Given the description of an element on the screen output the (x, y) to click on. 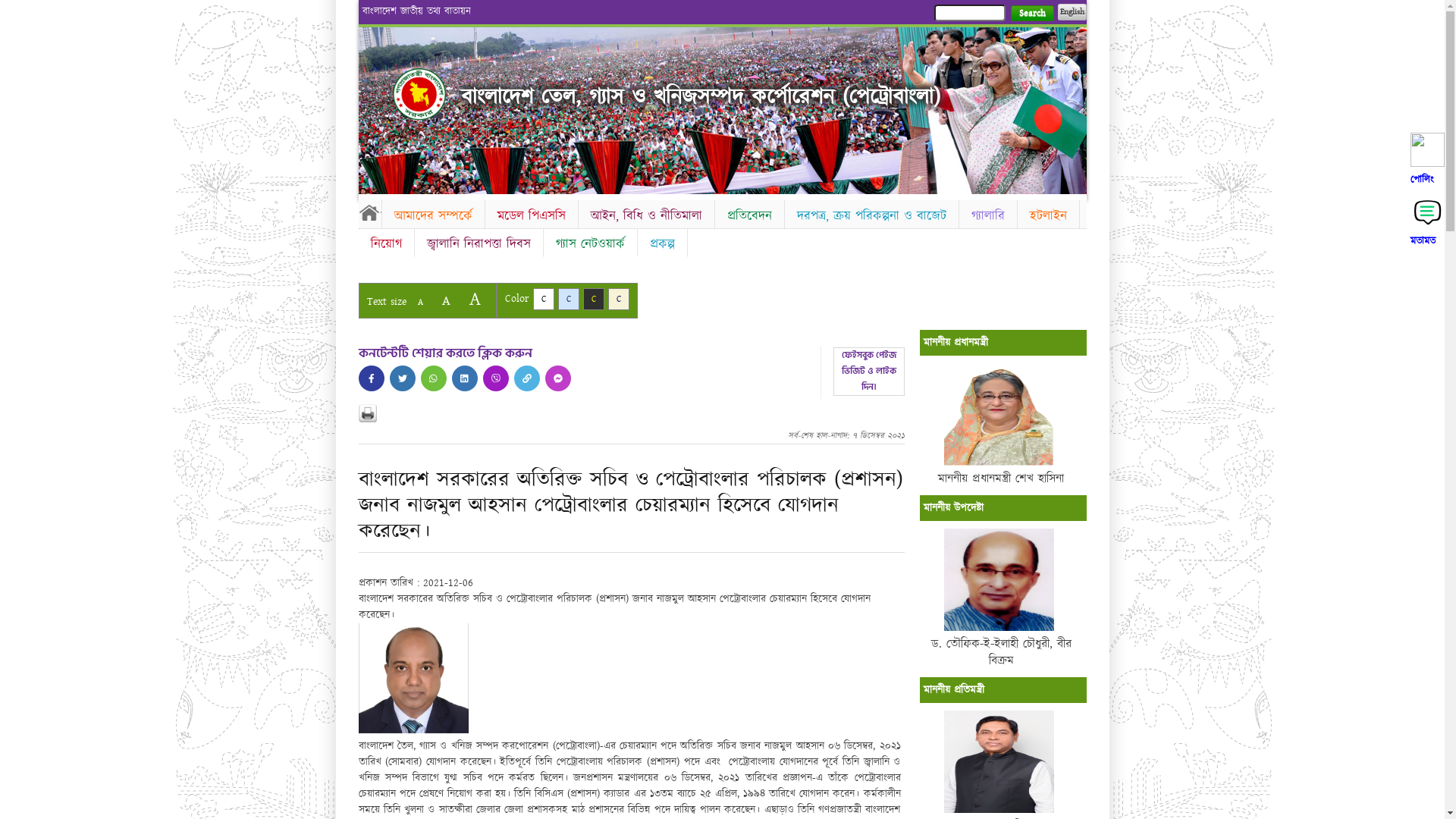
A Element type: text (474, 298)
A Element type: text (419, 301)
C Element type: text (592, 299)
English Element type: text (1071, 11)
C Element type: text (568, 299)
Search Element type: text (1031, 13)
C Element type: text (542, 299)
C Element type: text (618, 299)
A Element type: text (445, 300)
Home Element type: hover (368, 211)
Home Element type: hover (418, 93)
